Given the description of an element on the screen output the (x, y) to click on. 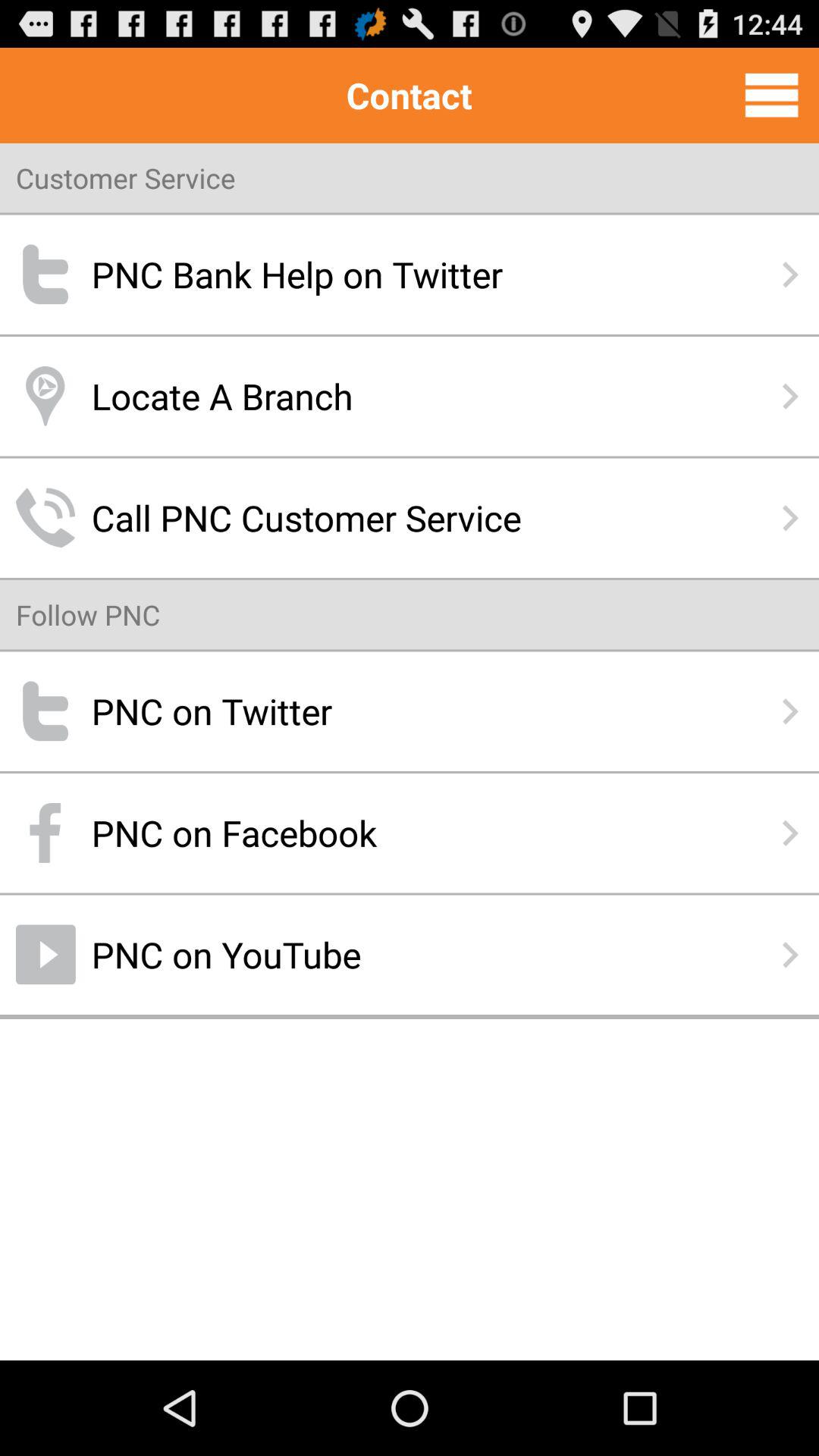
open item below the customer service (409, 274)
